Given the description of an element on the screen output the (x, y) to click on. 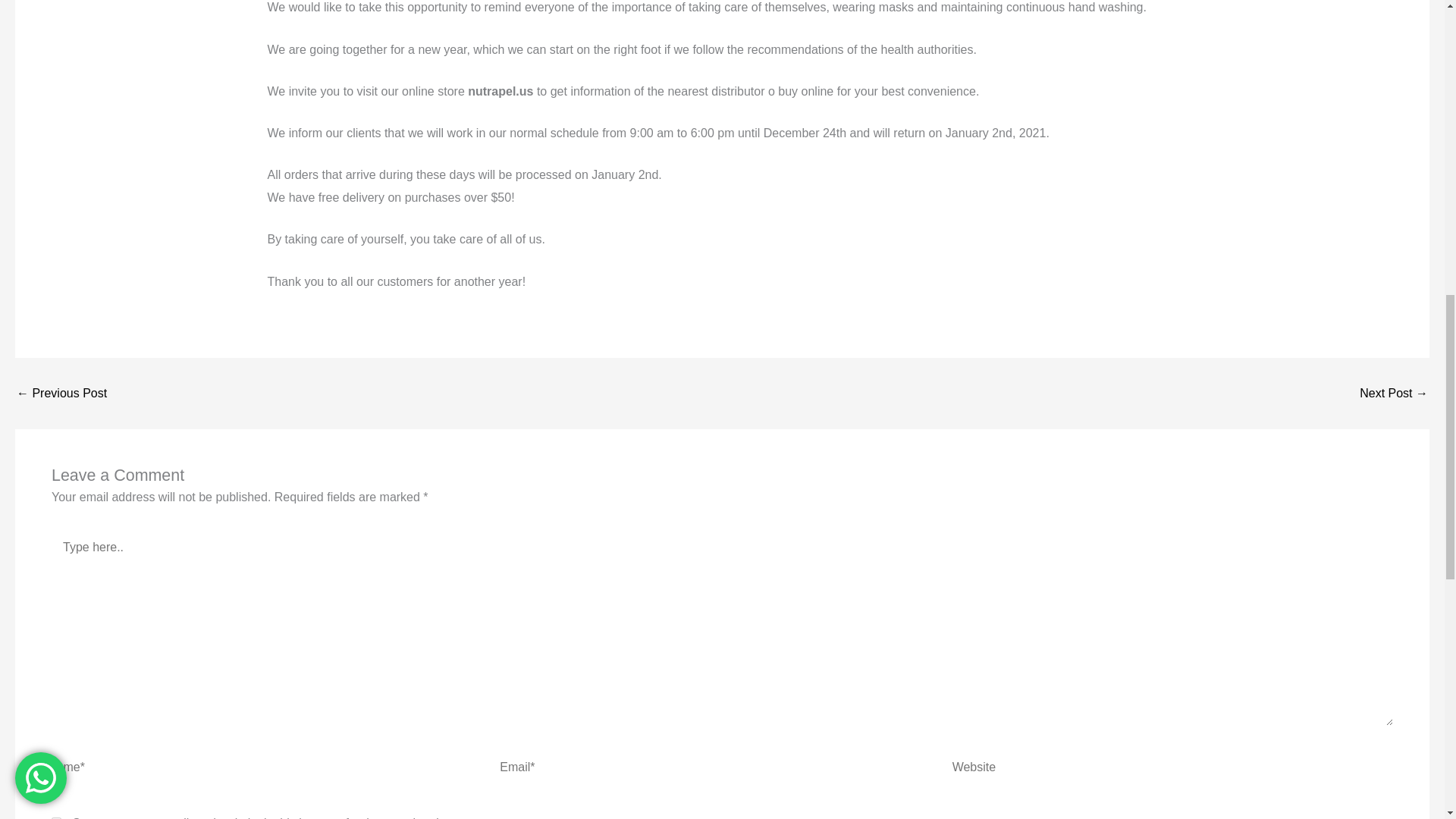
We have improved our product menu for your convenience! (1393, 393)
How does Plex work on hair? (61, 393)
